Given the description of an element on the screen output the (x, y) to click on. 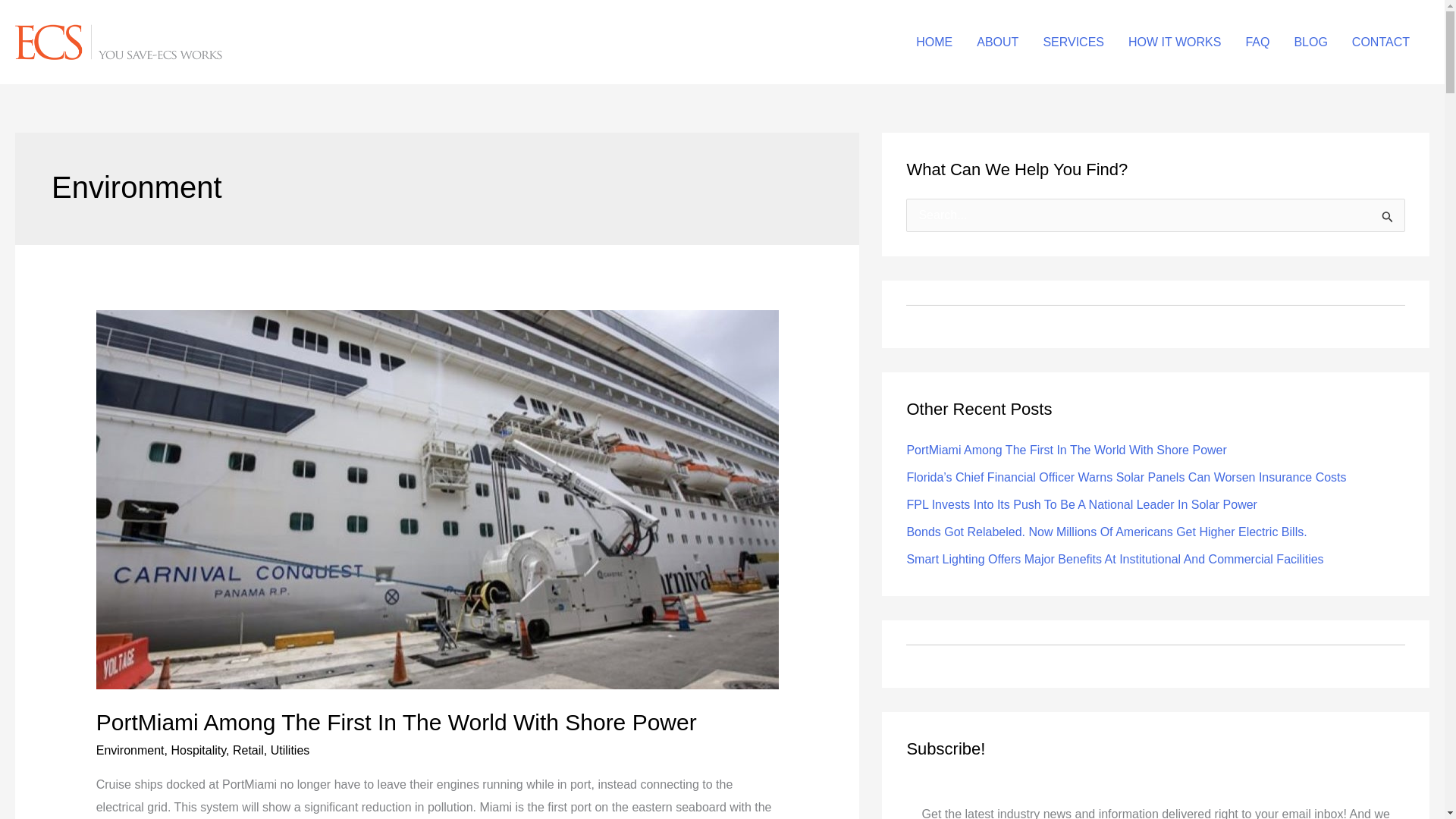
CONTACT (1380, 41)
Hospitality (197, 749)
BLOG (1310, 41)
Utilities (290, 749)
ABOUT (996, 41)
HOW IT WORKS (1174, 41)
SERVICES (1073, 41)
HOME (933, 41)
FAQ (1257, 41)
Environment (130, 749)
Retail (247, 749)
PortMiami Among The First In The World With Shore Power (396, 722)
